Given the description of an element on the screen output the (x, y) to click on. 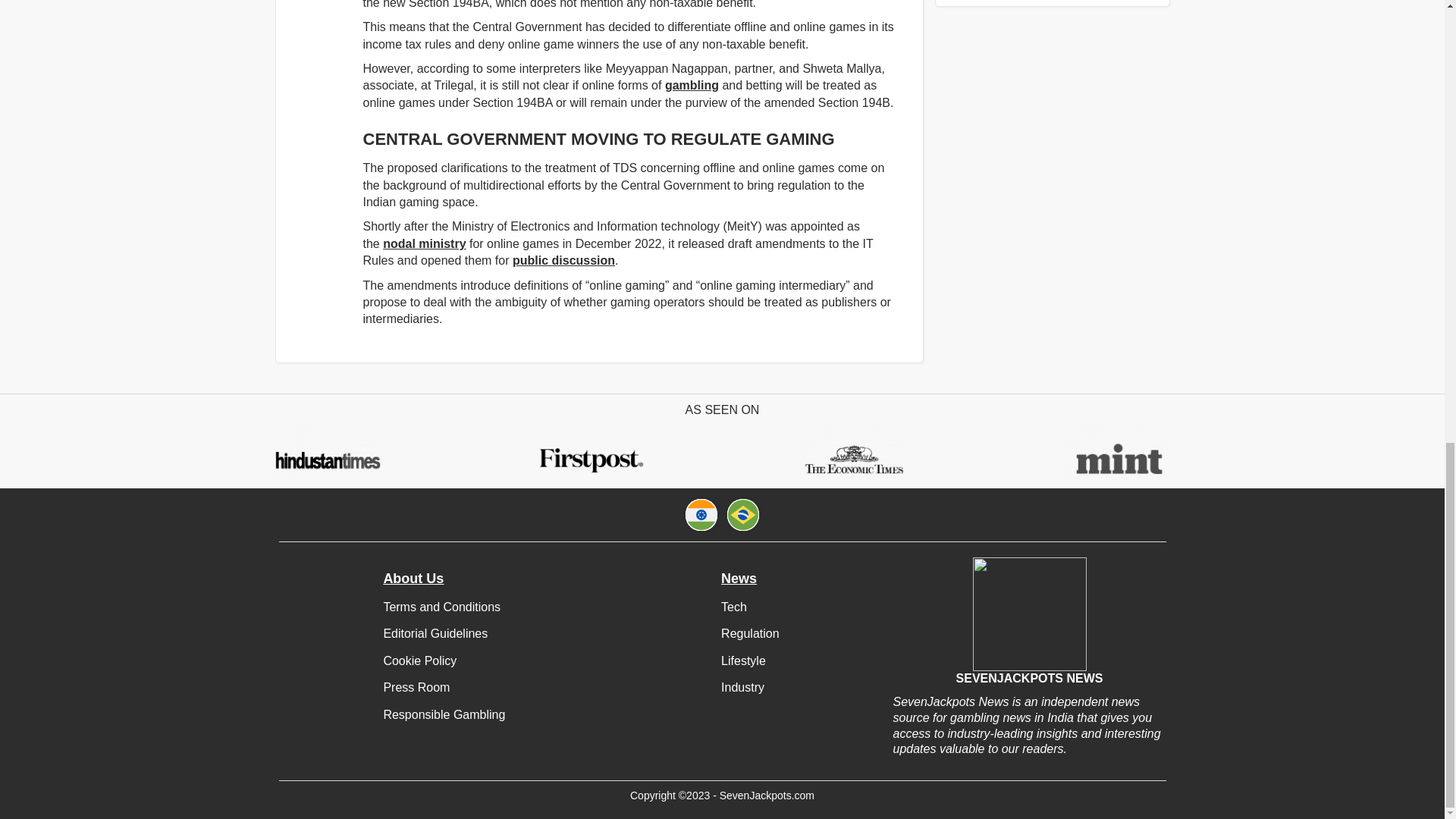
gambling (692, 84)
Press Room (415, 687)
Terms and Conditions (441, 606)
About Us (413, 578)
nodal ministry (423, 243)
Cookie Policy (419, 660)
Editorial Guidelines (434, 633)
public discussion (563, 259)
Responsible Gambling (443, 714)
